Given the description of an element on the screen output the (x, y) to click on. 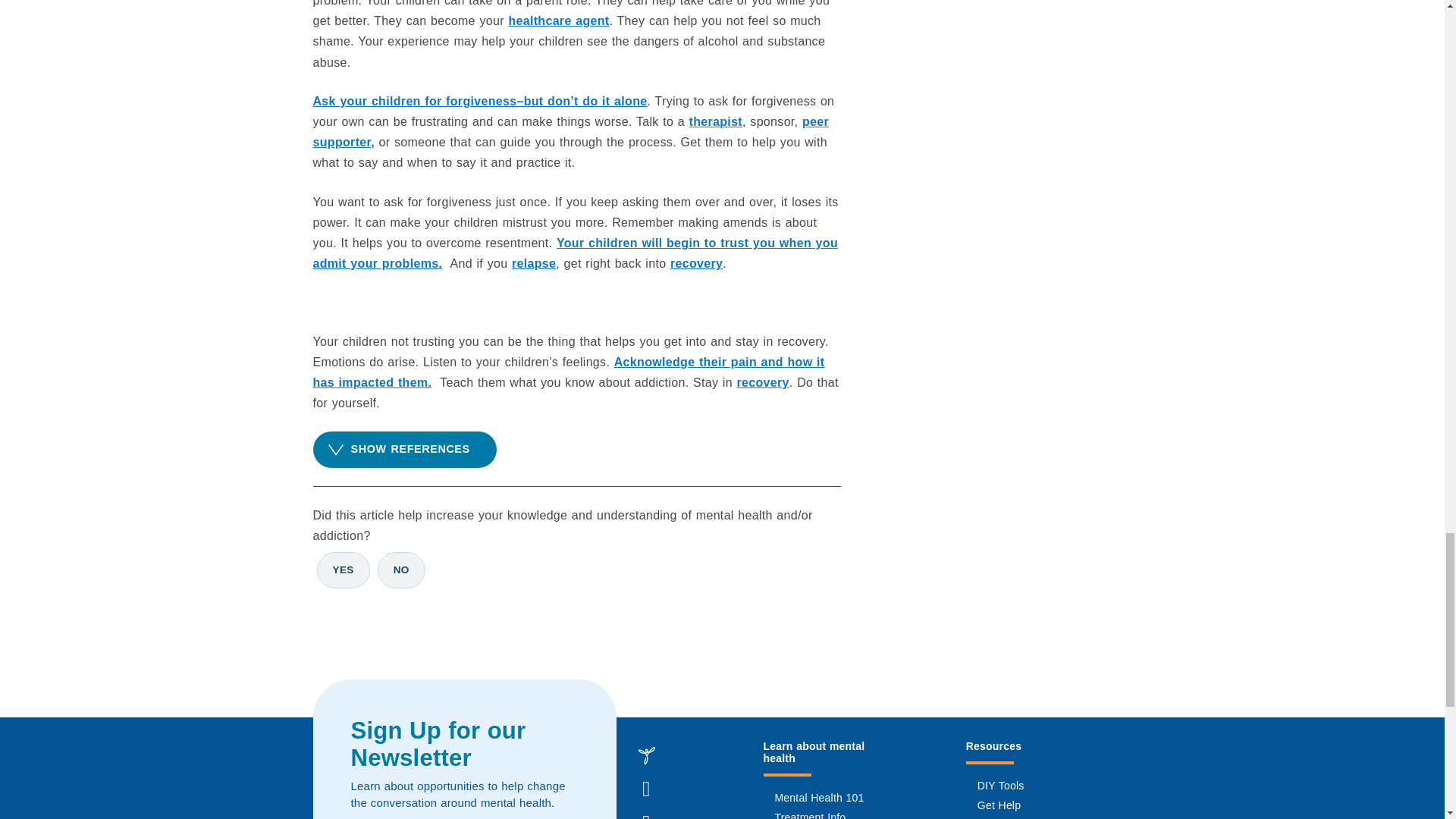
Link to Facebook (645, 788)
Link to Inspire (645, 755)
Link to Instagram (645, 813)
